Given the description of an element on the screen output the (x, y) to click on. 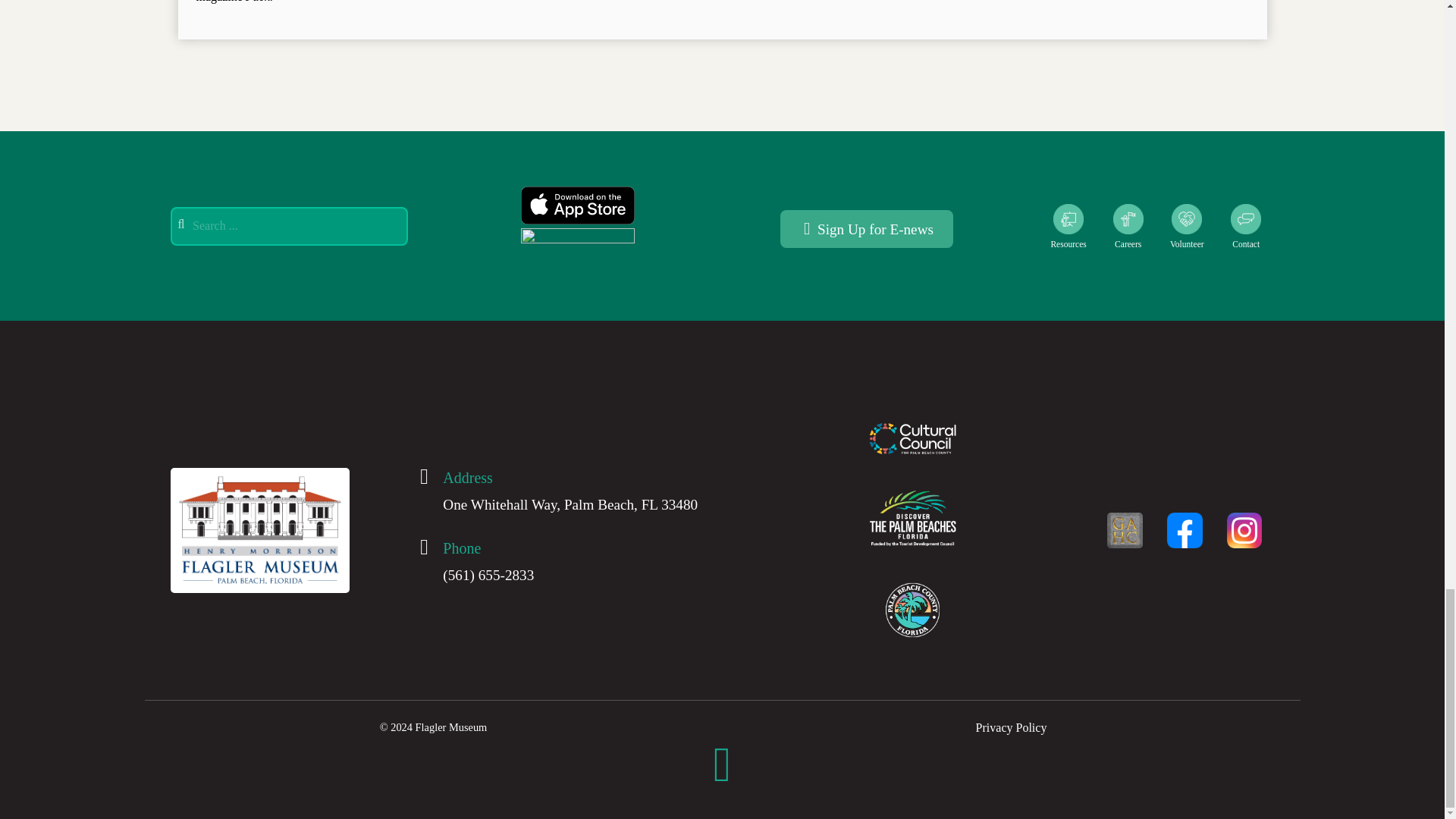
Search (288, 226)
Privacy Policy (1010, 727)
studius (259, 529)
